Given the description of an element on the screen output the (x, y) to click on. 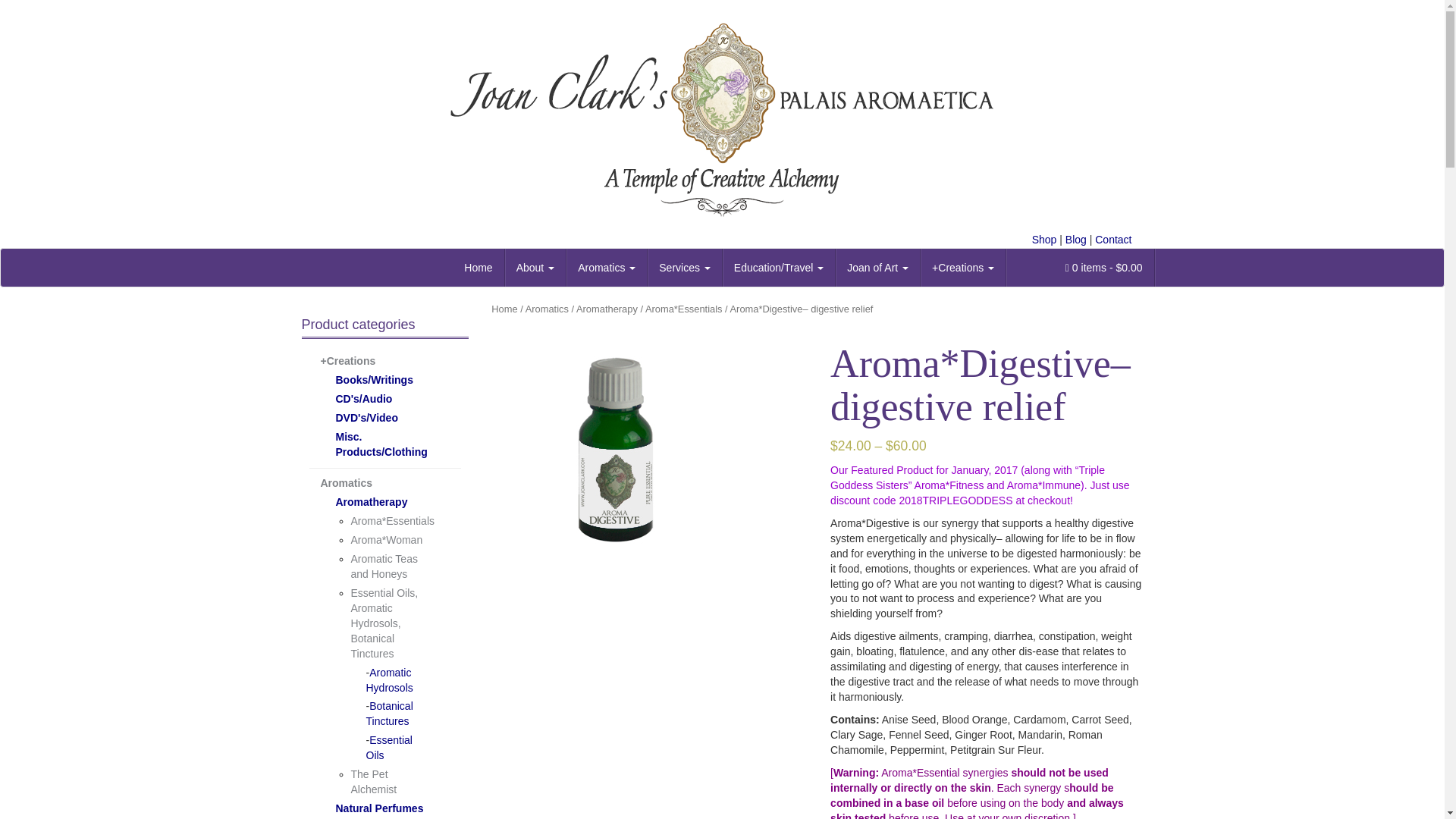
Contact (1112, 239)
Services (684, 267)
About (535, 267)
Blog (1075, 239)
Aromatics (606, 267)
Home (477, 267)
About (535, 267)
Aromatics (606, 267)
Shop (1044, 239)
Home (477, 267)
